Given the description of an element on the screen output the (x, y) to click on. 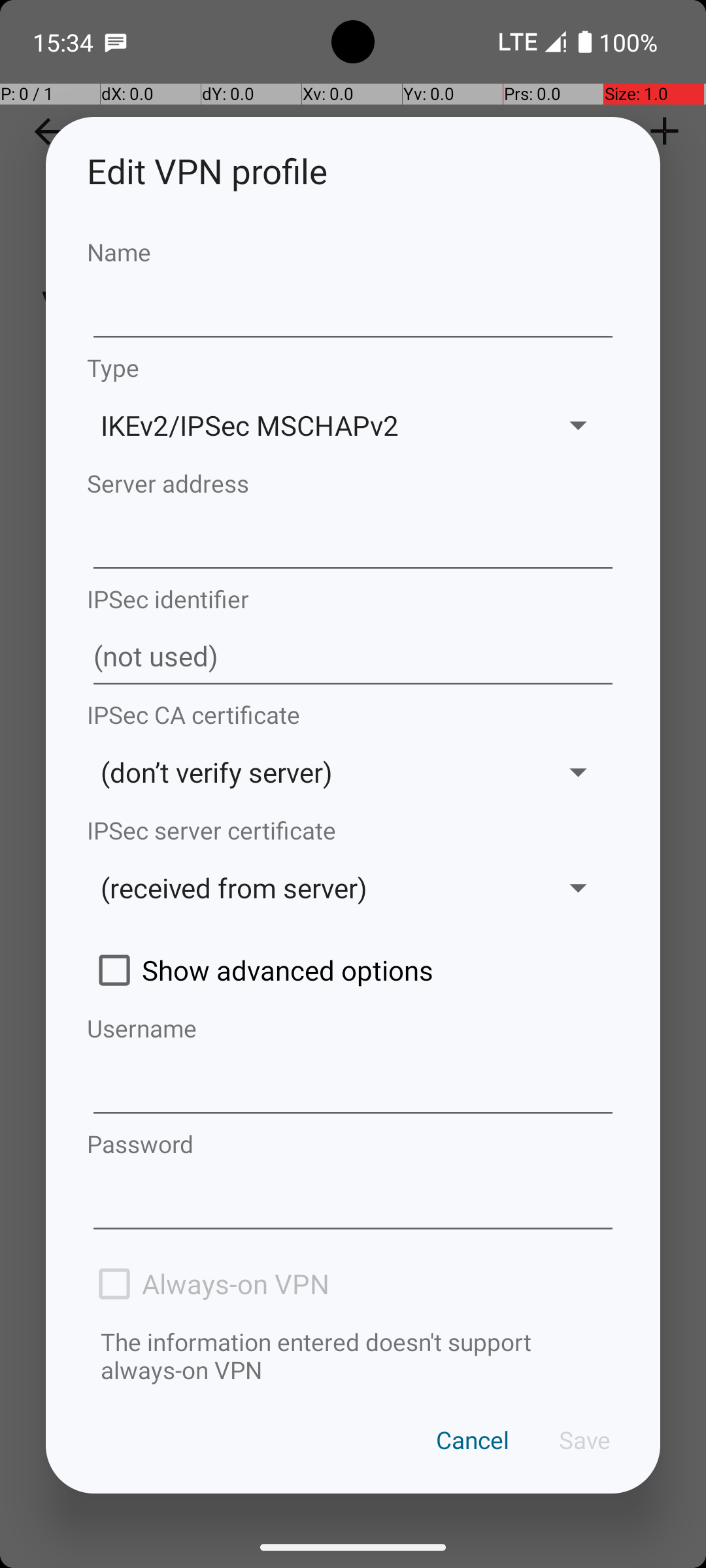
Edit VPN profile Element type: android.widget.TextView (352, 170)
Server address Element type: android.widget.TextView (352, 482)
IPSec identifier Element type: android.widget.TextView (352, 598)
(not used) Element type: android.widget.EditText (352, 656)
IPSec CA certificate Element type: android.widget.TextView (352, 714)
IPSec server certificate Element type: android.widget.TextView (352, 829)
Show advanced options Element type: android.widget.CheckBox (352, 970)
Username Element type: android.widget.TextView (352, 1027)
Password Element type: android.widget.TextView (352, 1143)
Always-on VPN Element type: android.widget.CheckBox (352, 1283)
The information entered doesn't support always-on VPN Element type: android.widget.TextView (352, 1355)
IKEv2/IPSec MSCHAPv2 Element type: android.widget.TextView (311, 424)
(don’t verify server) Element type: android.widget.TextView (311, 771)
(received from server) Element type: android.widget.TextView (311, 887)
